Given the description of an element on the screen output the (x, y) to click on. 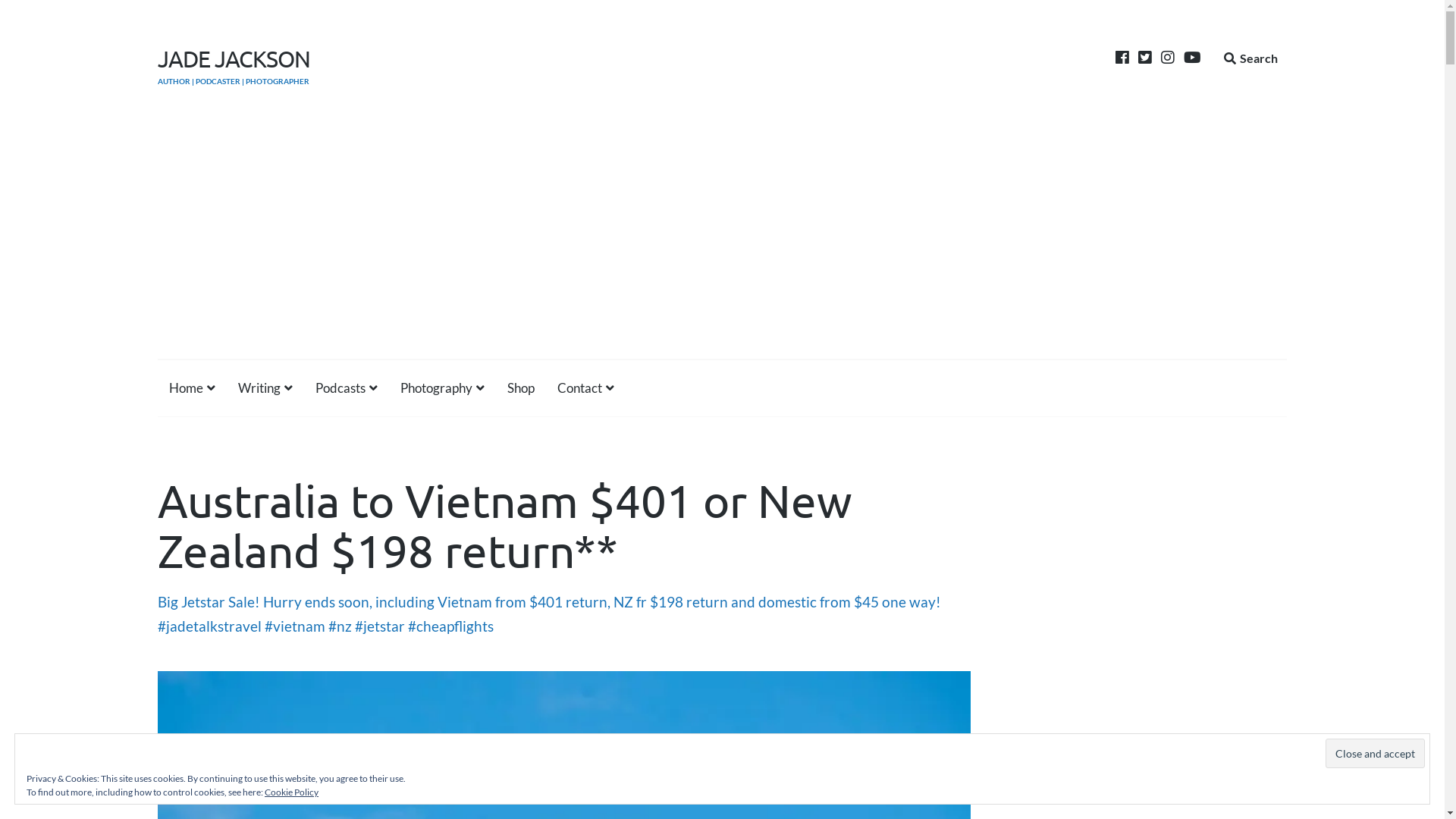
Close and accept Element type: text (1374, 753)
Shop Element type: text (520, 388)
Writing Element type: text (265, 388)
Posts by Jade Jackson Element type: hover (157, 653)
Contact Element type: text (585, 388)
Search Element type: text (1250, 58)
Cookie Policy Element type: text (291, 791)
Photography Element type: text (442, 388)
Jade Jackson Element type: text (157, 653)
Home Element type: text (192, 388)
JADE JACKSON Element type: text (233, 58)
Podcasts Element type: text (346, 388)
Advertisement Element type: hover (721, 244)
